Given the description of an element on the screen output the (x, y) to click on. 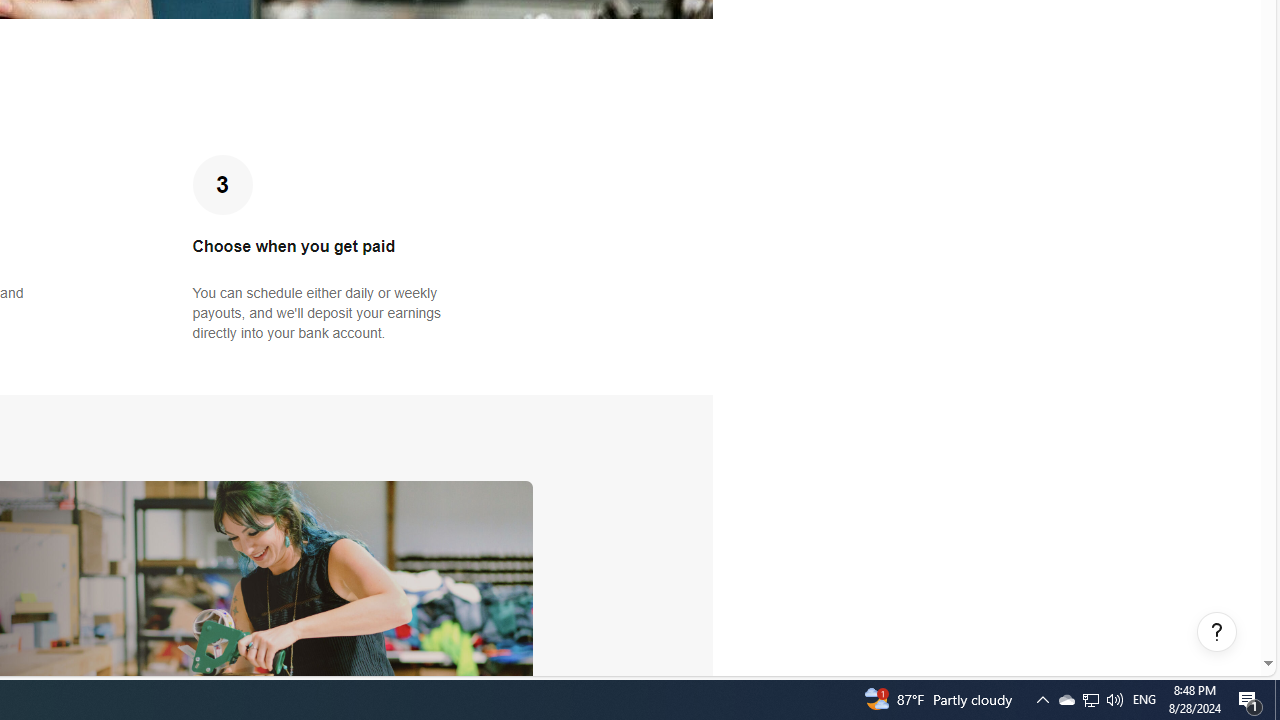
Help, opens dialogs (1217, 632)
